Given the description of an element on the screen output the (x, y) to click on. 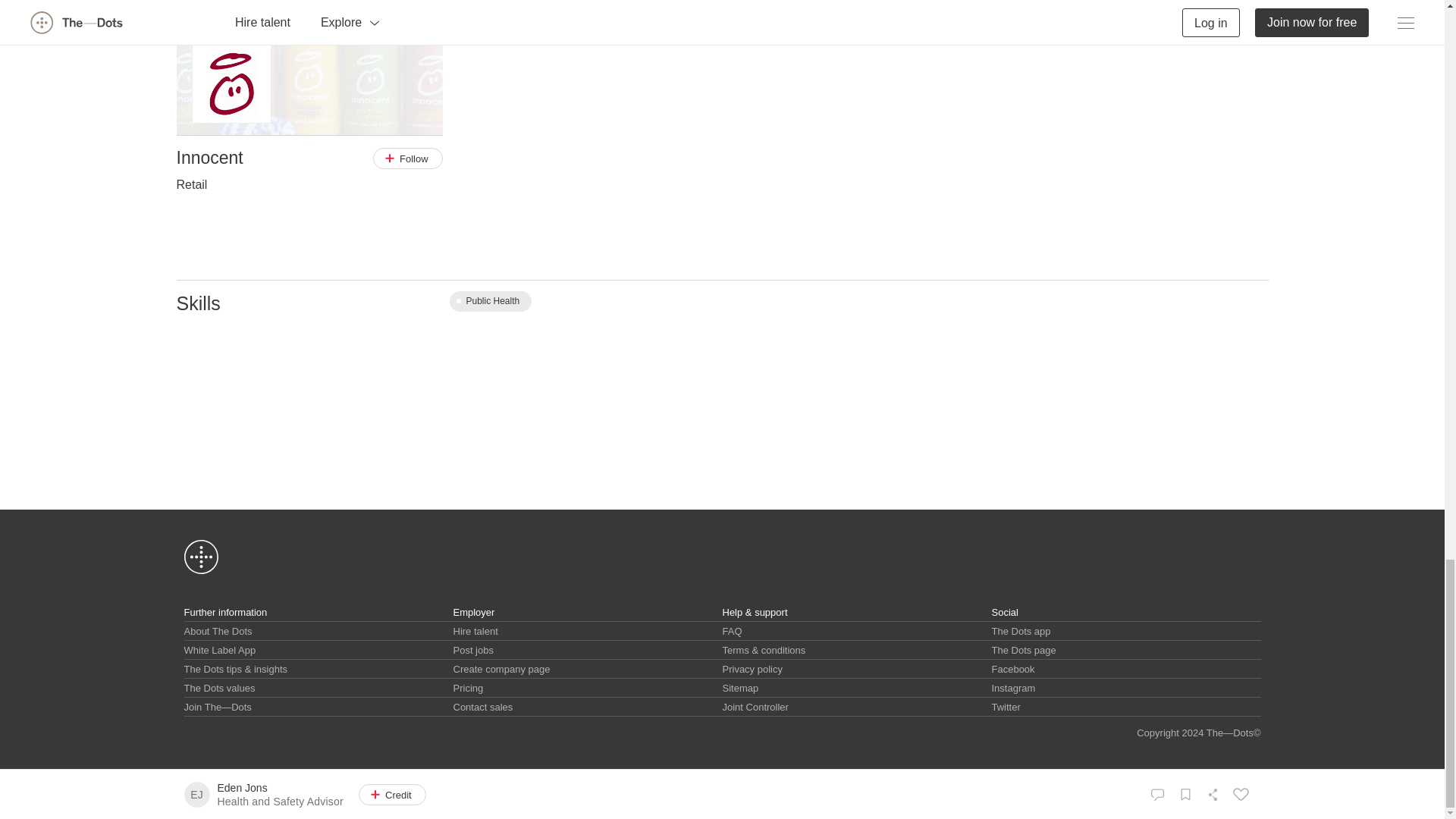
Create company page (501, 668)
The Dots values (218, 687)
Post jobs (472, 650)
Contact sales (482, 706)
Public Health (489, 301)
Follow (407, 158)
About The Dots (217, 631)
Privacy policy (751, 668)
Hire talent (474, 631)
FAQ (731, 631)
Pricing (467, 687)
White Label App (219, 650)
